Given the description of an element on the screen output the (x, y) to click on. 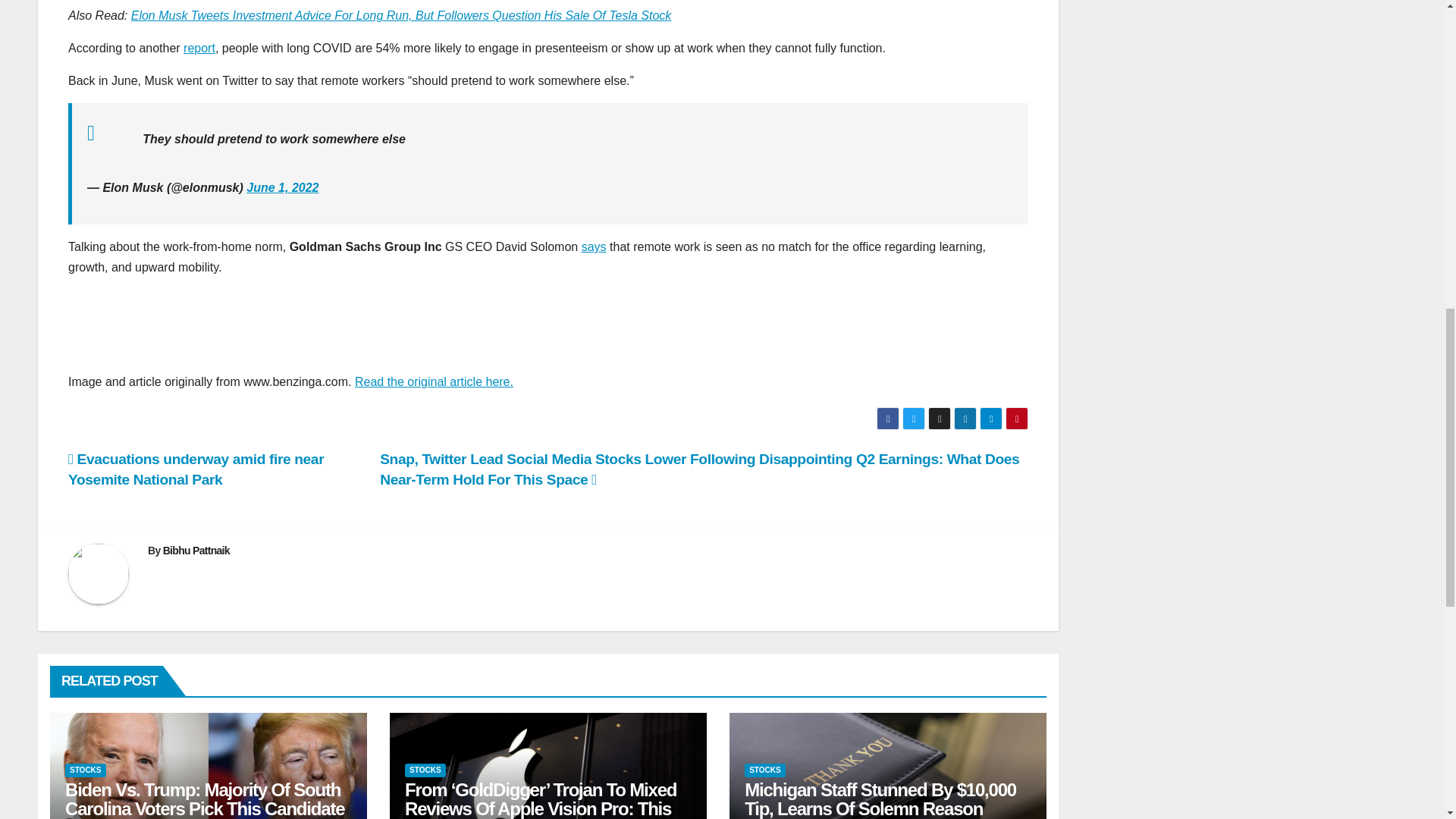
report (199, 47)
Evacuations underway amid fire near Yosemite National Park (195, 469)
says (593, 246)
Bibhu Pattnaik (196, 550)
June 1, 2022 (282, 187)
STOCKS (85, 770)
Read the original article here. (434, 381)
